Given the description of an element on the screen output the (x, y) to click on. 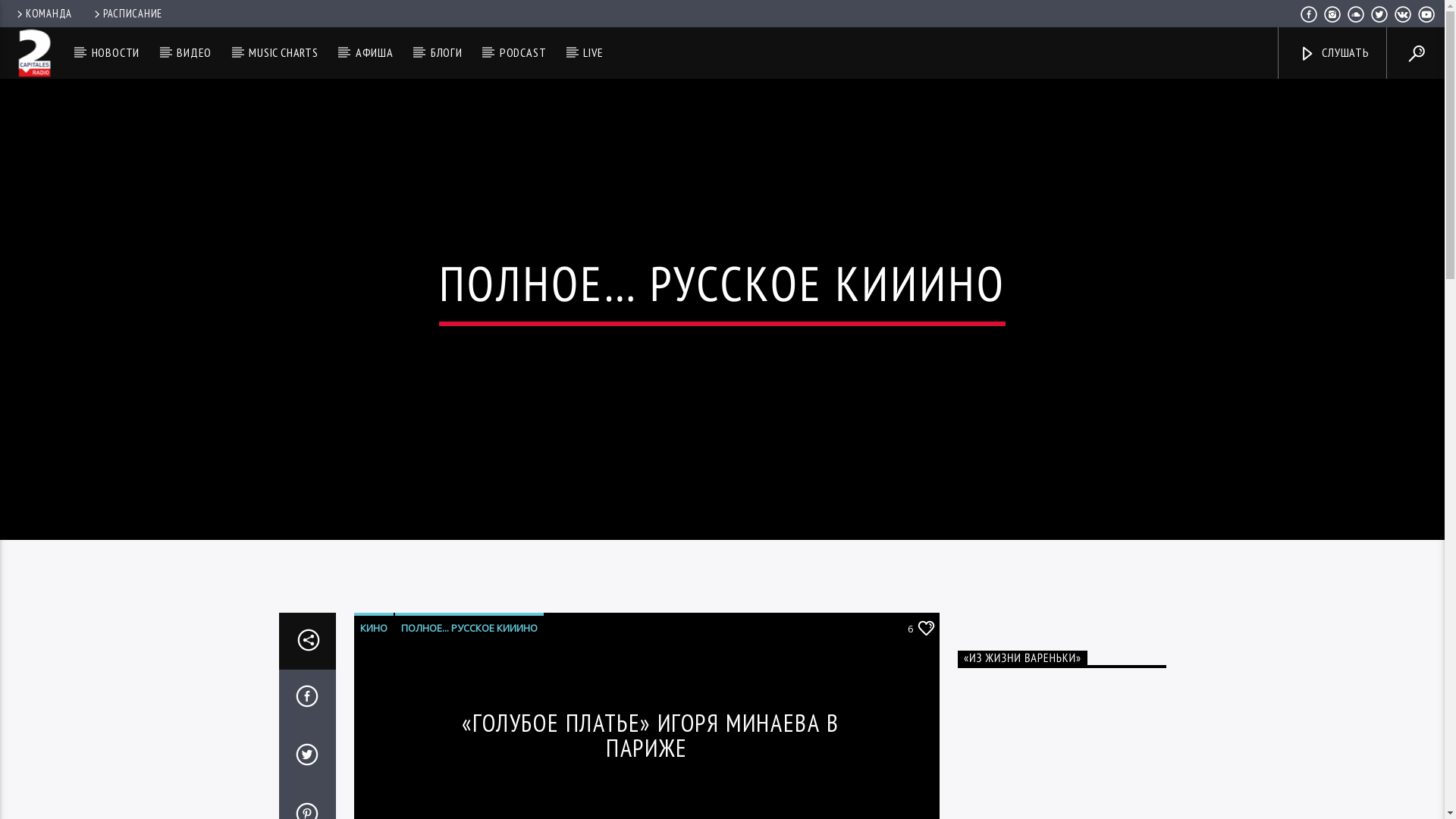
LIVE Element type: text (593, 52)
PODCAST Element type: text (522, 52)
Search Element type: text (1203, 99)
MUSIC CHARTS Element type: text (283, 52)
